Given the description of an element on the screen output the (x, y) to click on. 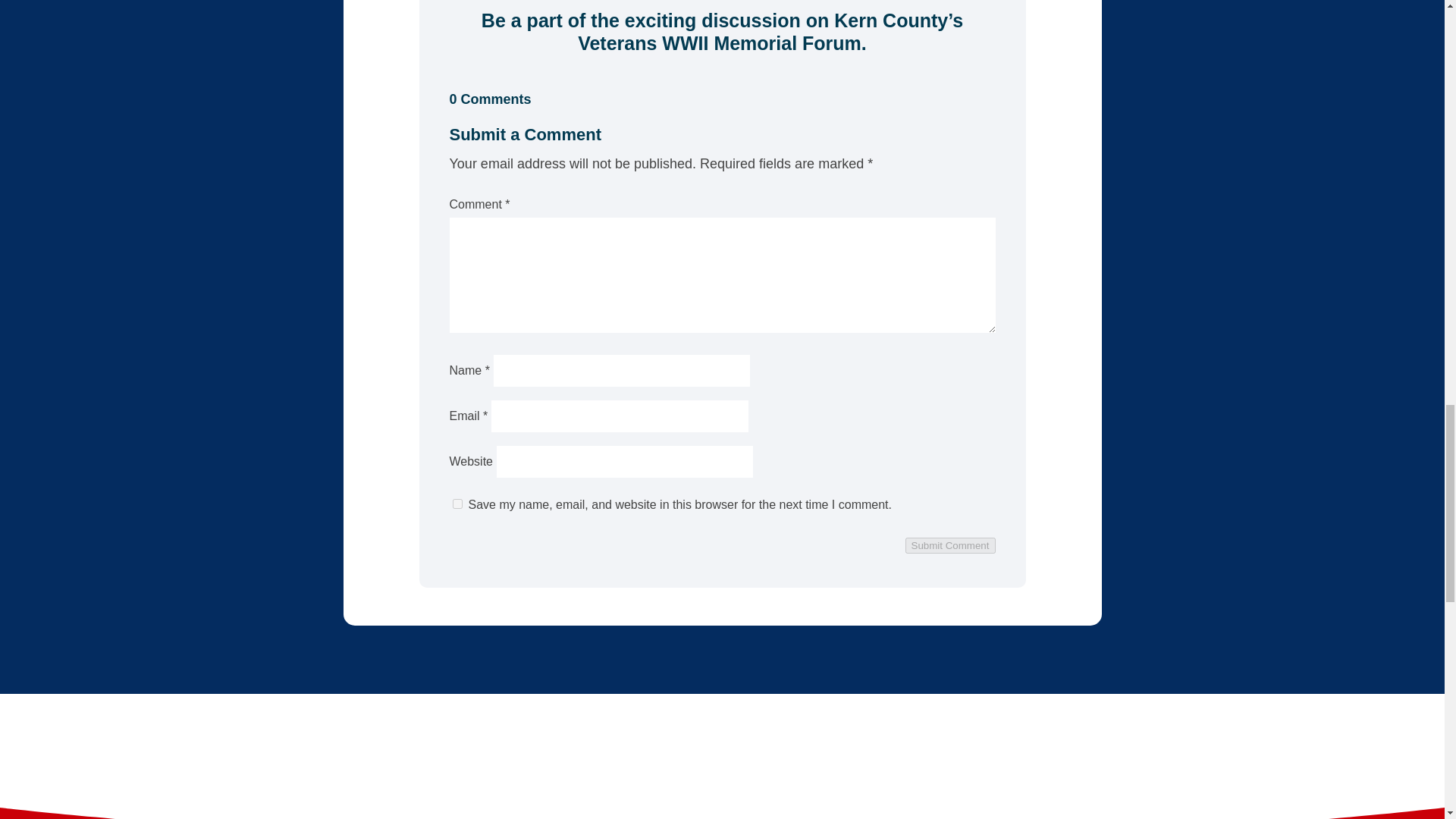
Submit Comment (950, 545)
yes (456, 503)
